Given the description of an element on the screen output the (x, y) to click on. 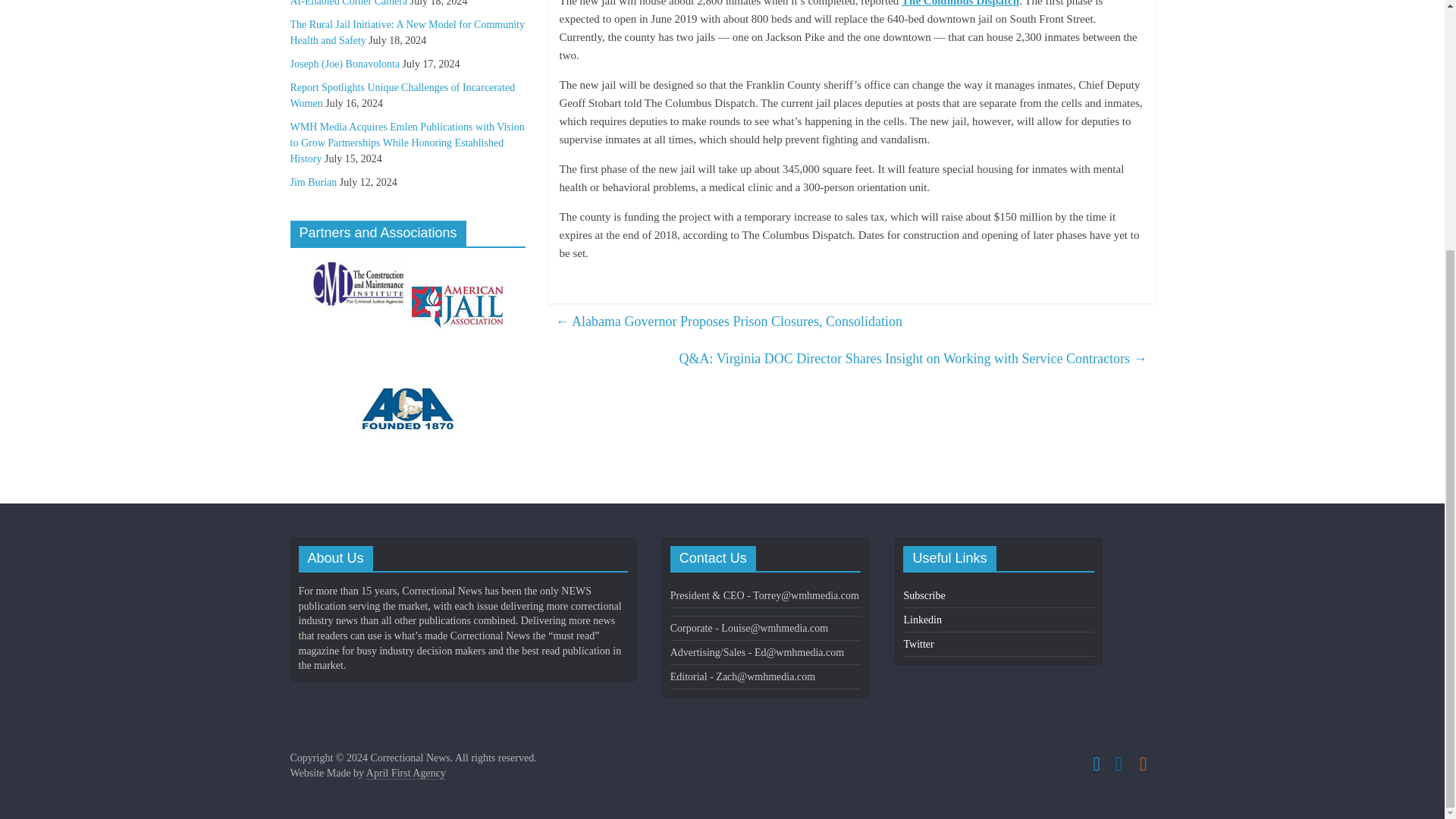
Report Spotlights Unique Challenges of Incarcerated Women (402, 94)
The Columbus Dispatch (960, 3)
Jim Burian (312, 182)
AI-Enabled Corner Camera (348, 3)
